Given the description of an element on the screen output the (x, y) to click on. 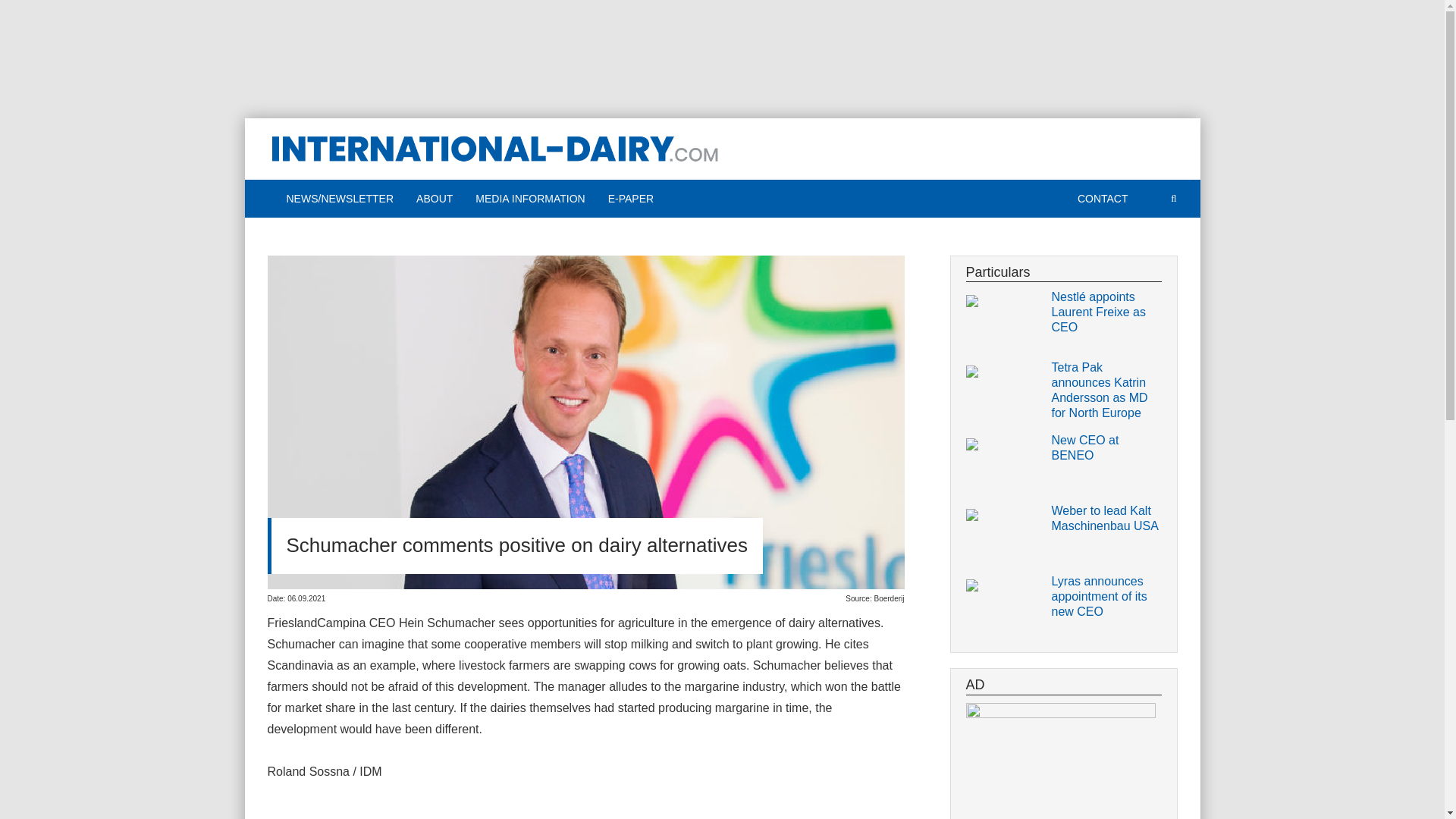
E-PAPER (630, 198)
CONTACT (1102, 198)
Tetra Pak announces Katrin Andersson as MD for North Europe (1105, 390)
New CEO at BENEO (1105, 448)
MEDIA INFORMATION (529, 198)
Weber to lead Kalt Maschinenbau USA (1105, 518)
ABOUT (434, 198)
Lyras announces appointment of its new CEO (1105, 596)
